Given the description of an element on the screen output the (x, y) to click on. 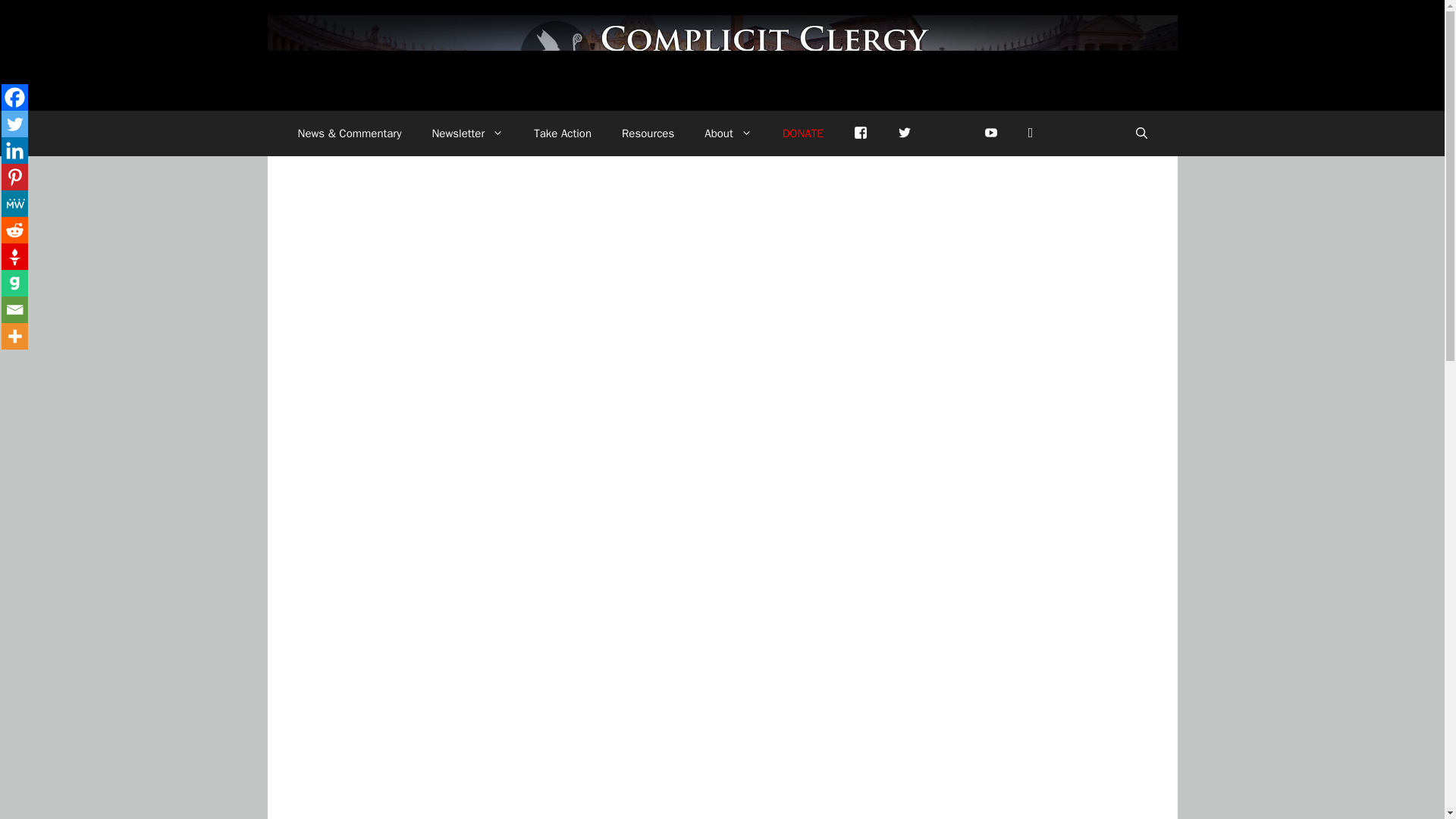
Twitter (14, 123)
Facebook (14, 97)
Take Action (562, 133)
About (727, 133)
Gettr (947, 130)
Resources (647, 133)
DONATE (802, 133)
Facebook (860, 133)
Newsletter (467, 133)
Twitter (904, 133)
